Given the description of an element on the screen output the (x, y) to click on. 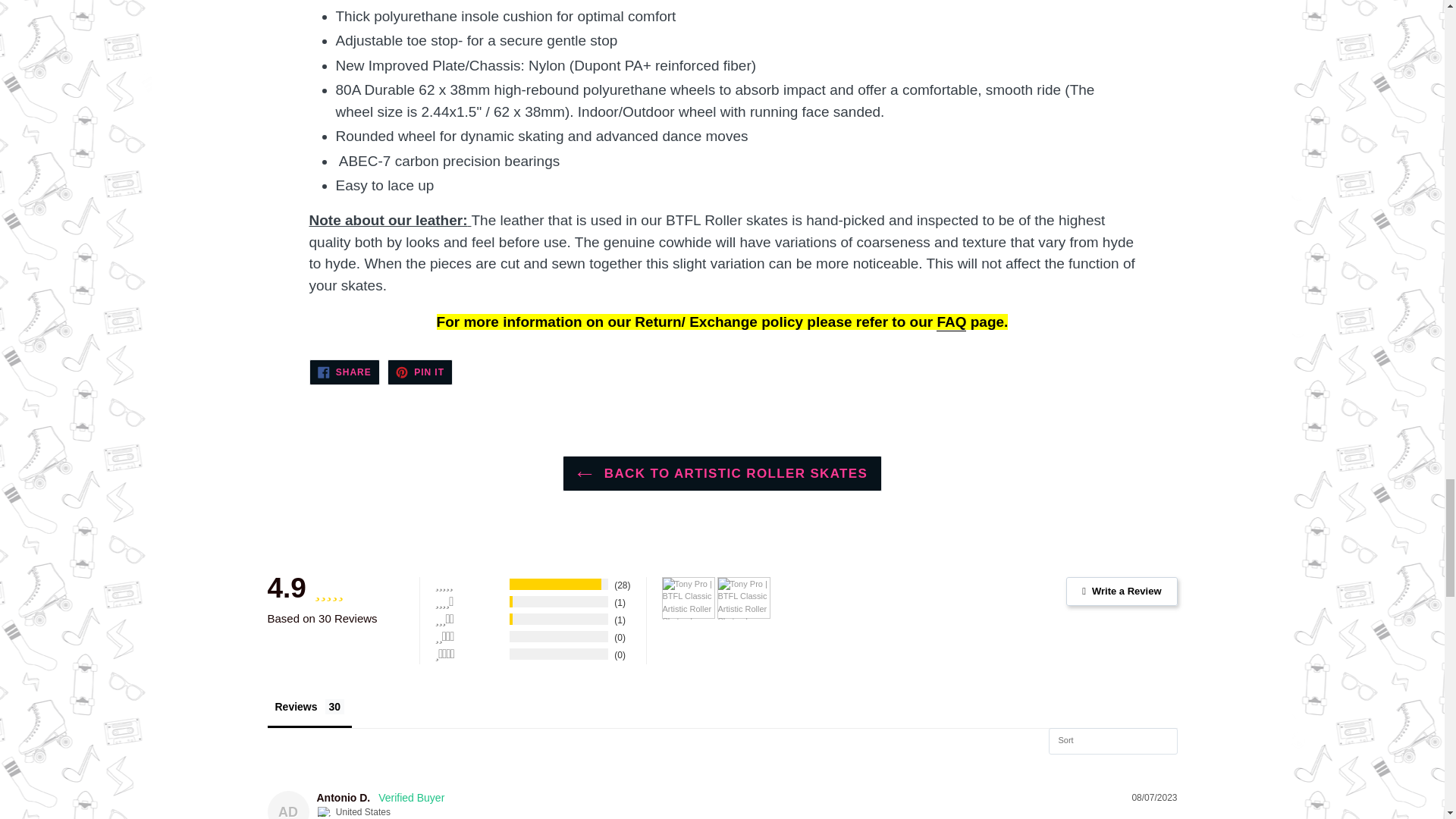
Pin on Pinterest (419, 371)
BTFL Roller Skate FAQ page with questions and answers. (951, 322)
Share on Facebook (344, 371)
